Given the description of an element on the screen output the (x, y) to click on. 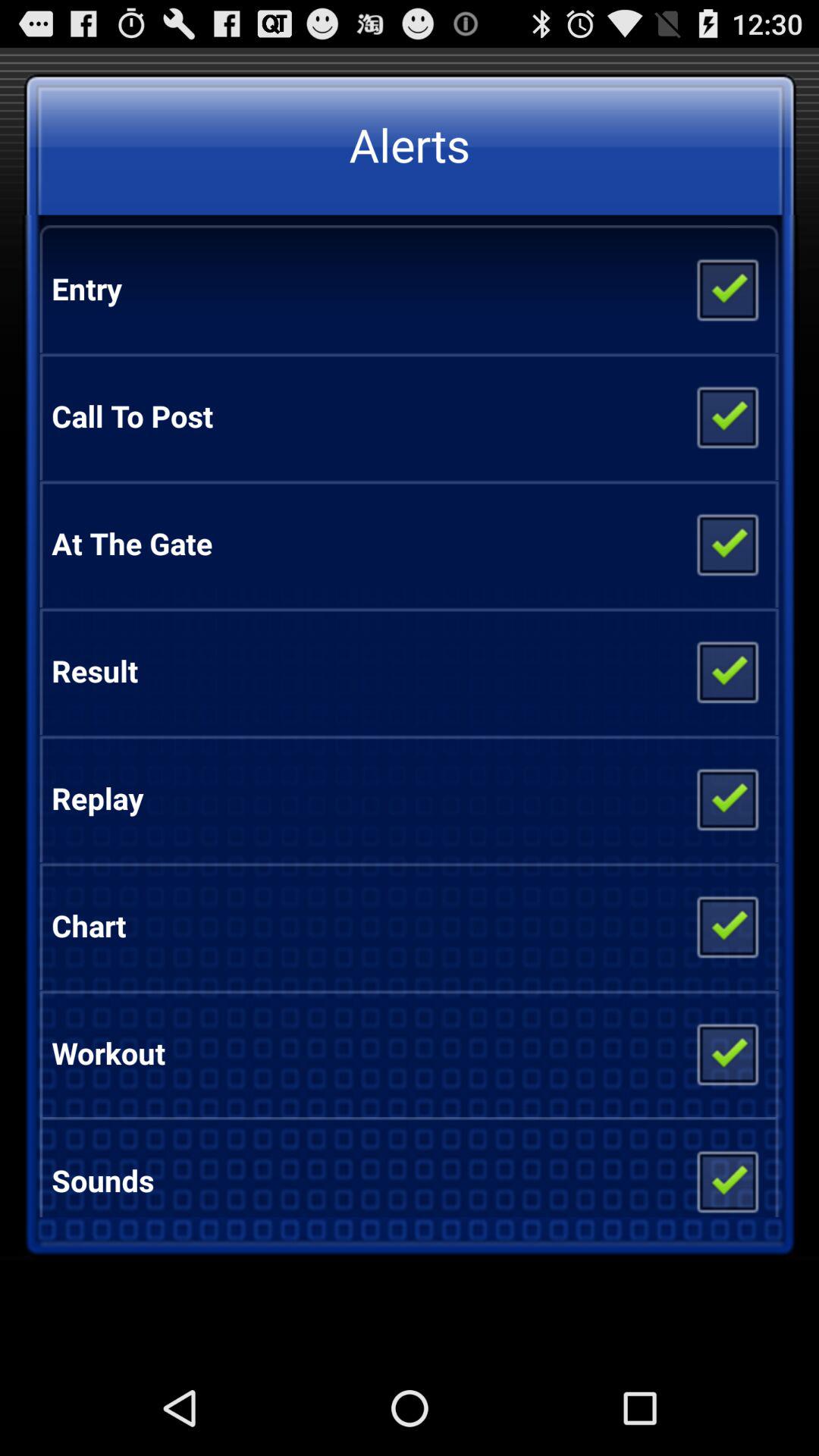
deselect entry (726, 288)
